Given the description of an element on the screen output the (x, y) to click on. 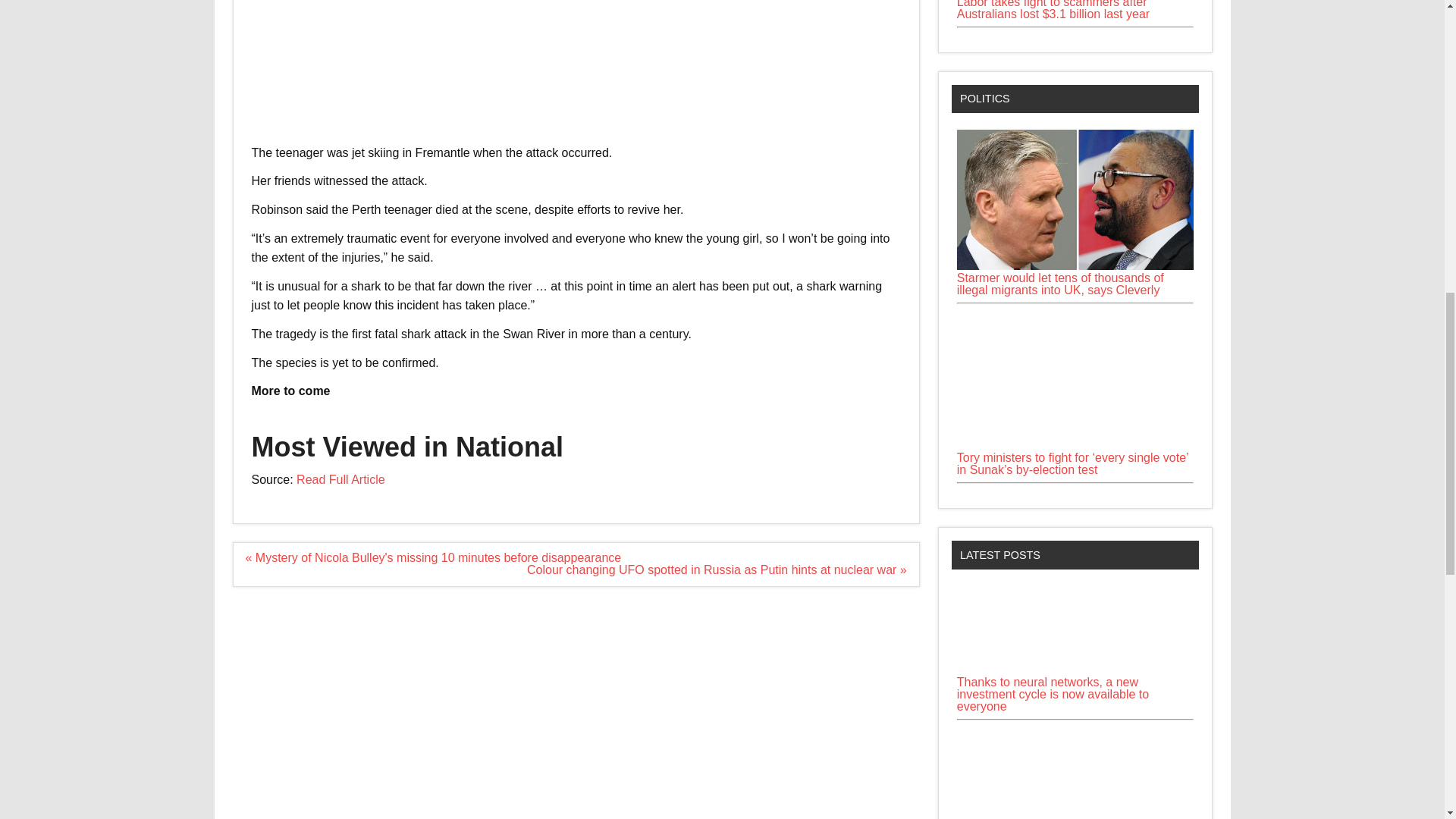
Prague university shooting leaves several dead, police say (1074, 772)
Read Full Article (341, 479)
